Given the description of an element on the screen output the (x, y) to click on. 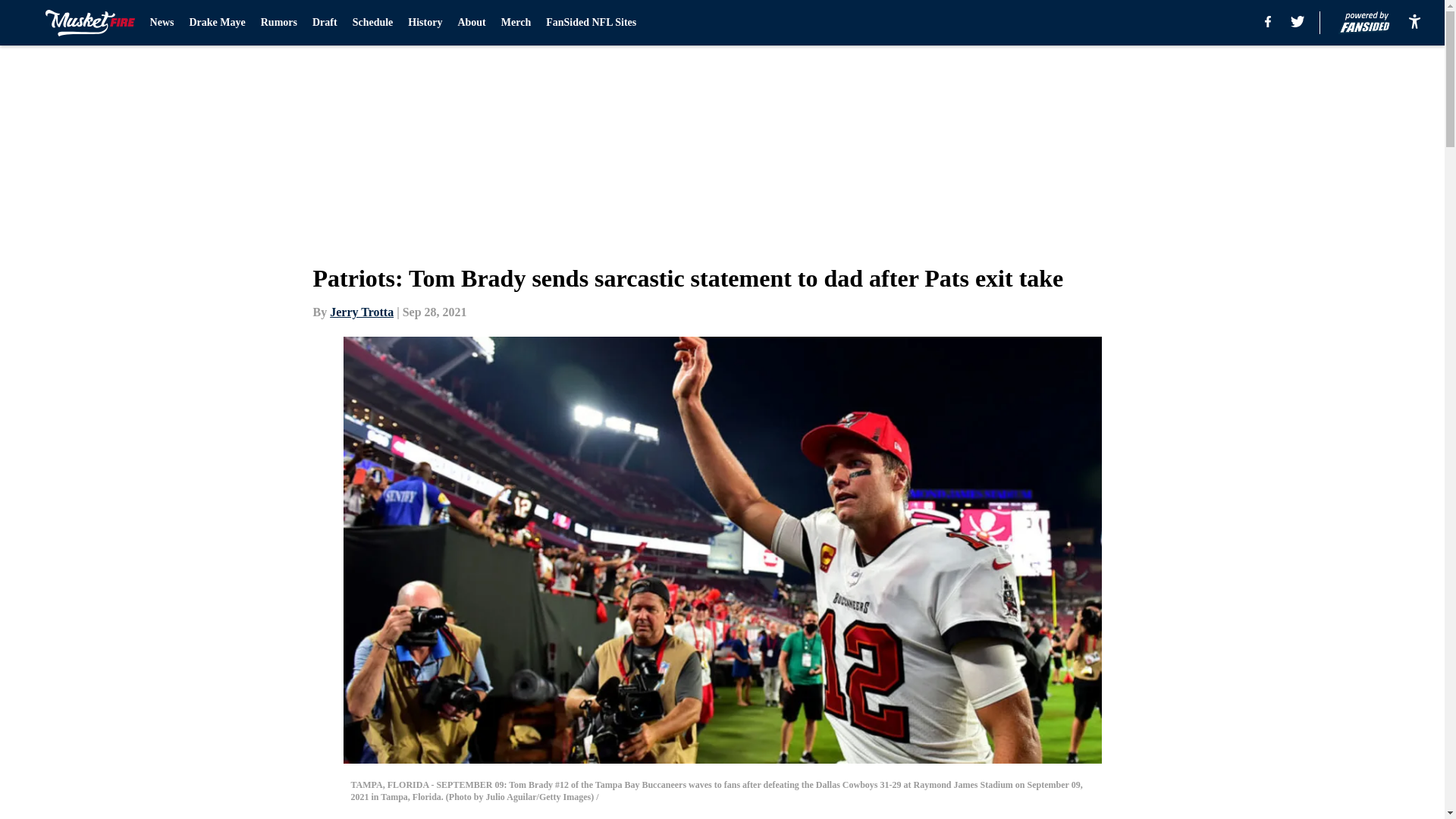
News (161, 22)
Jerry Trotta (361, 311)
Draft (325, 22)
Schedule (372, 22)
Rumors (278, 22)
About (470, 22)
Drake Maye (216, 22)
History (424, 22)
FanSided NFL Sites (591, 22)
Merch (515, 22)
